Given the description of an element on the screen output the (x, y) to click on. 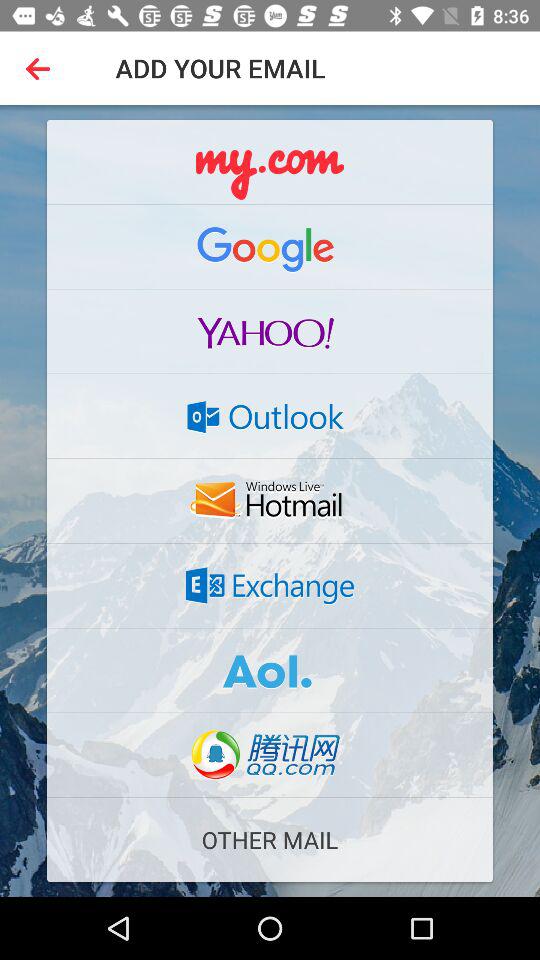
choose icon at the top left corner (41, 68)
